Given the description of an element on the screen output the (x, y) to click on. 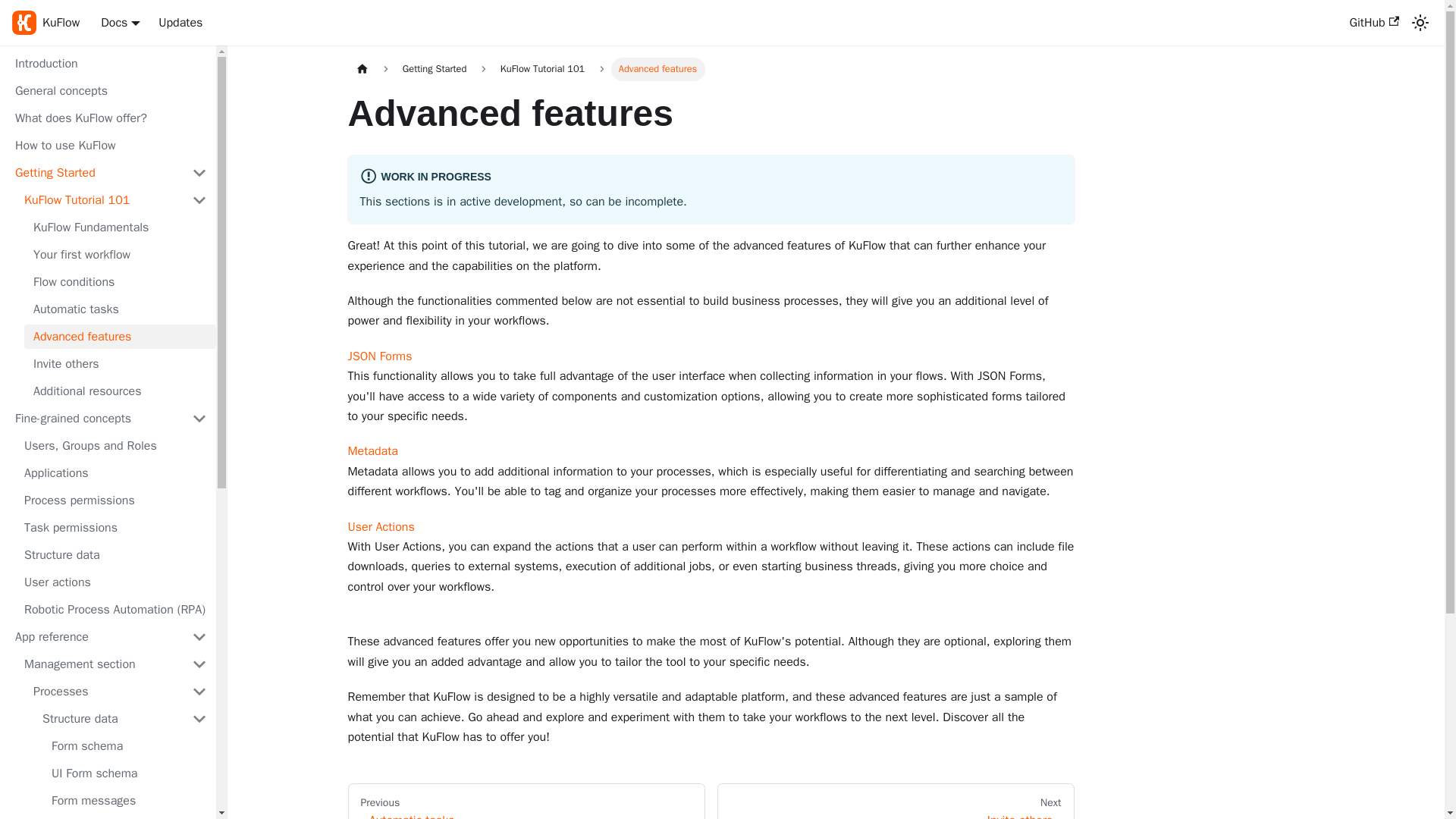
General concepts (110, 90)
Docs (119, 22)
Additional resources (119, 391)
Invite others (119, 363)
Structure data (114, 554)
Your first workflow (119, 254)
App reference (110, 636)
GitHub (1373, 22)
Introduction (110, 63)
Updates (180, 22)
